Given the description of an element on the screen output the (x, y) to click on. 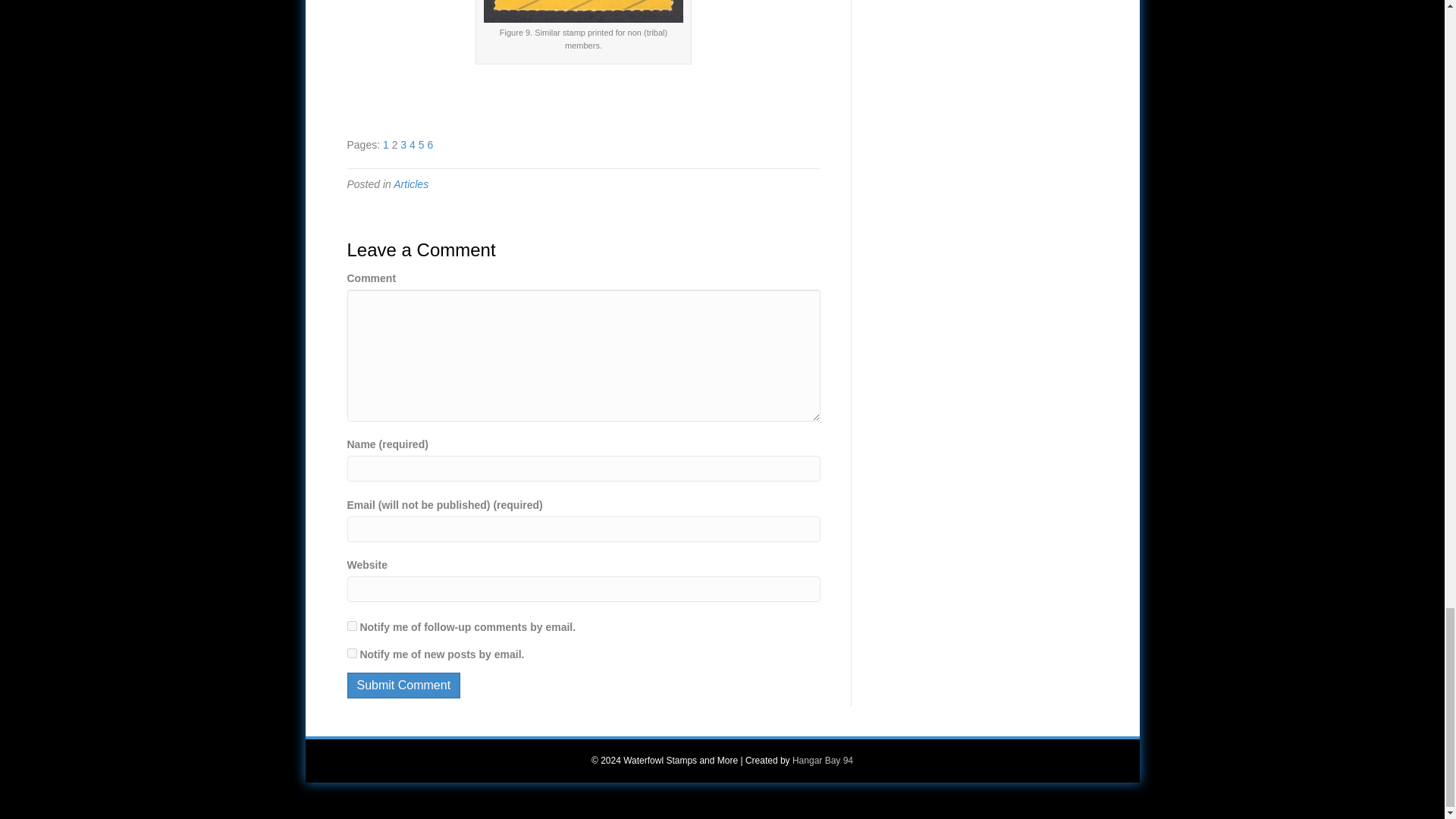
Submit Comment (404, 684)
subscribe (351, 625)
subscribe (351, 653)
